Given the description of an element on the screen output the (x, y) to click on. 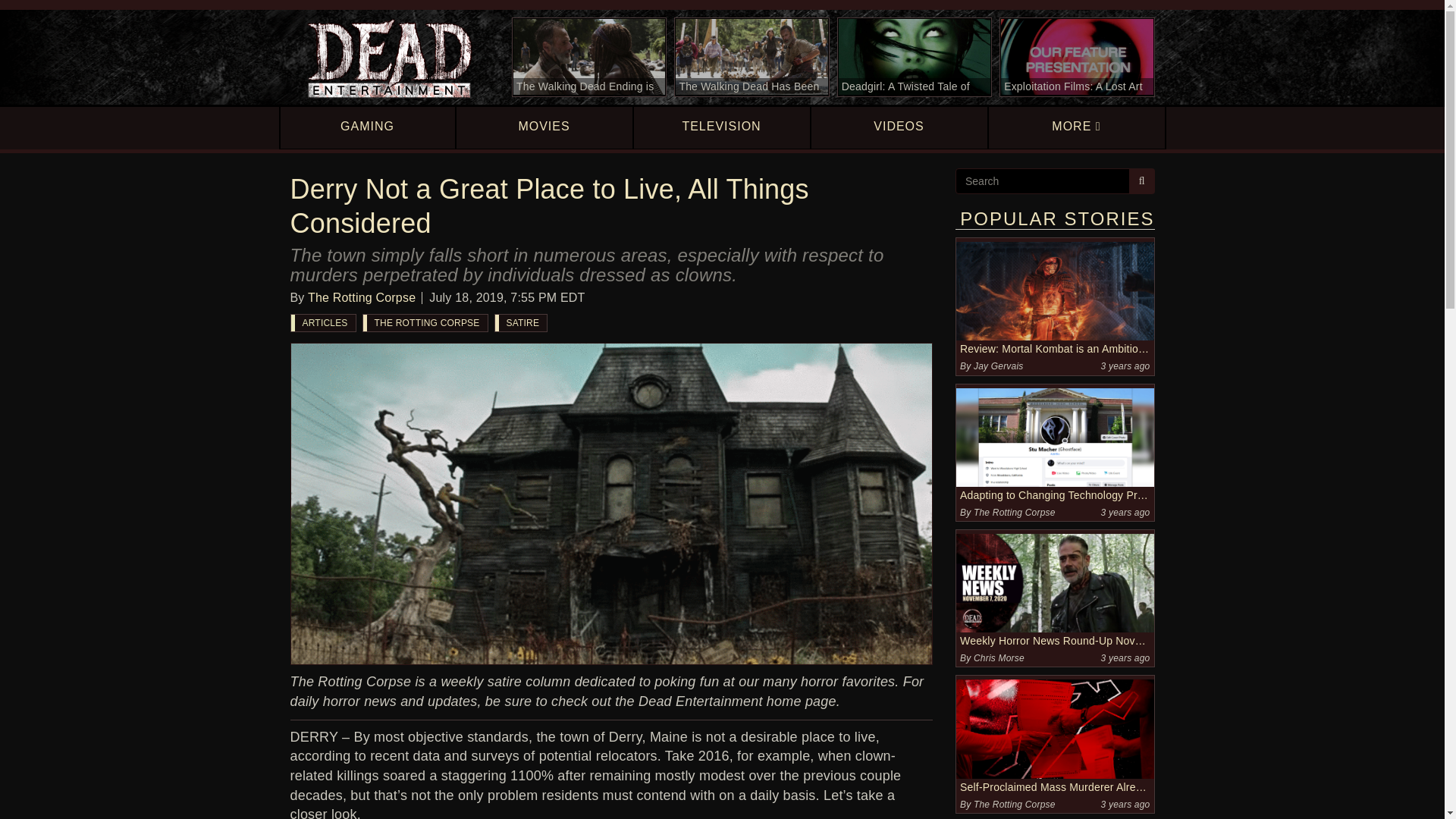
The Rotting Corpse (360, 297)
The Rotting Corpse (1014, 511)
Jay Gervais (998, 366)
ARTICLES (323, 322)
SATIRE (521, 322)
Exploitation Films: A Lost Art and Genre of Decades Past (1076, 57)
Deadgirl: A Twisted Tale of Lust and "True" Love (914, 57)
THE ROTTING CORPSE (424, 322)
